Given the description of an element on the screen output the (x, y) to click on. 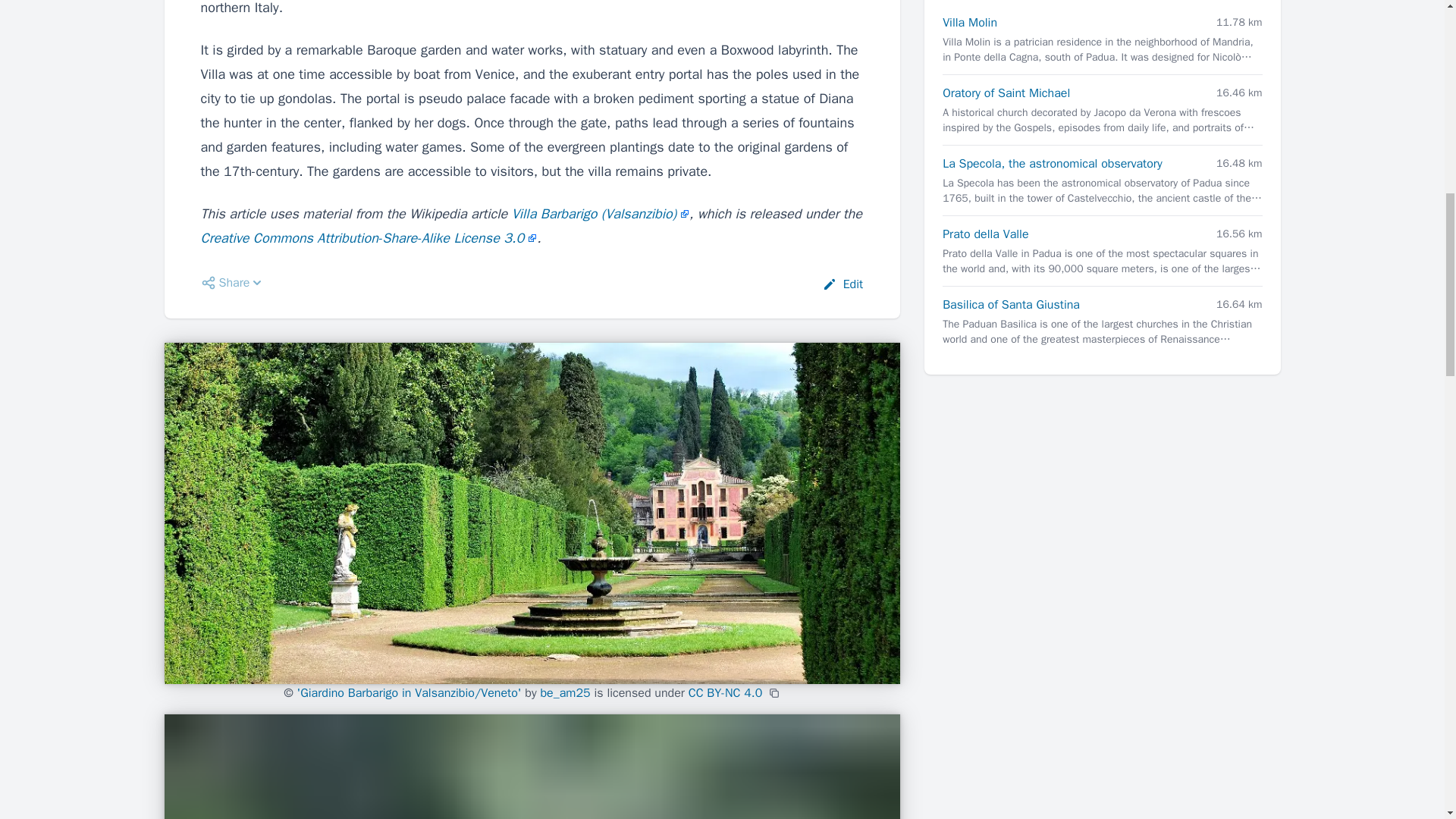
Creative Commons Attribution-Share-Alike License 3.0 (368, 238)
